Given the description of an element on the screen output the (x, y) to click on. 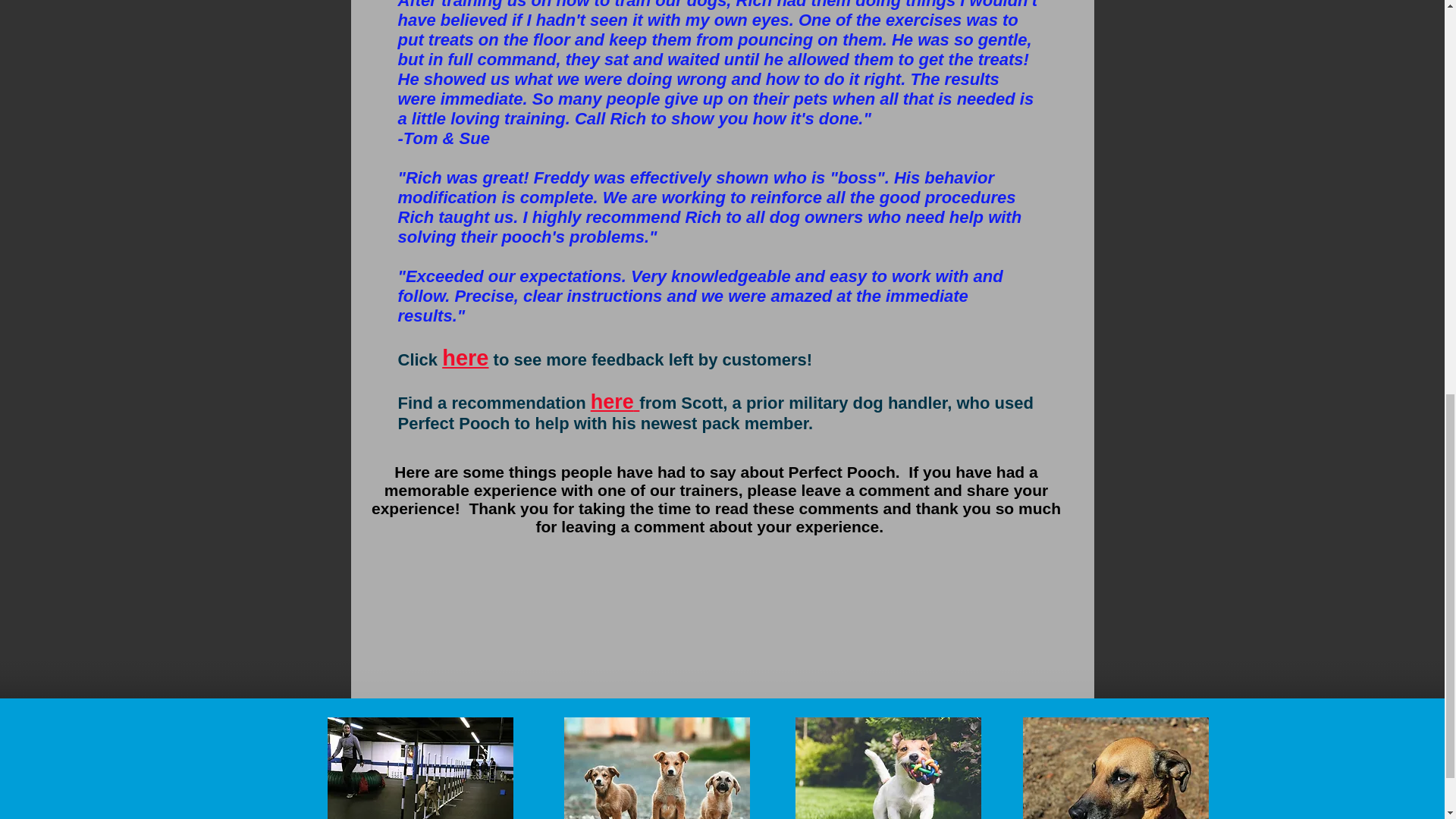
here (464, 359)
Three Big Puppies (656, 768)
here (612, 401)
Sweet Dog (1115, 768)
dog running with toy (886, 768)
Dog Training (420, 768)
